Given the description of an element on the screen output the (x, y) to click on. 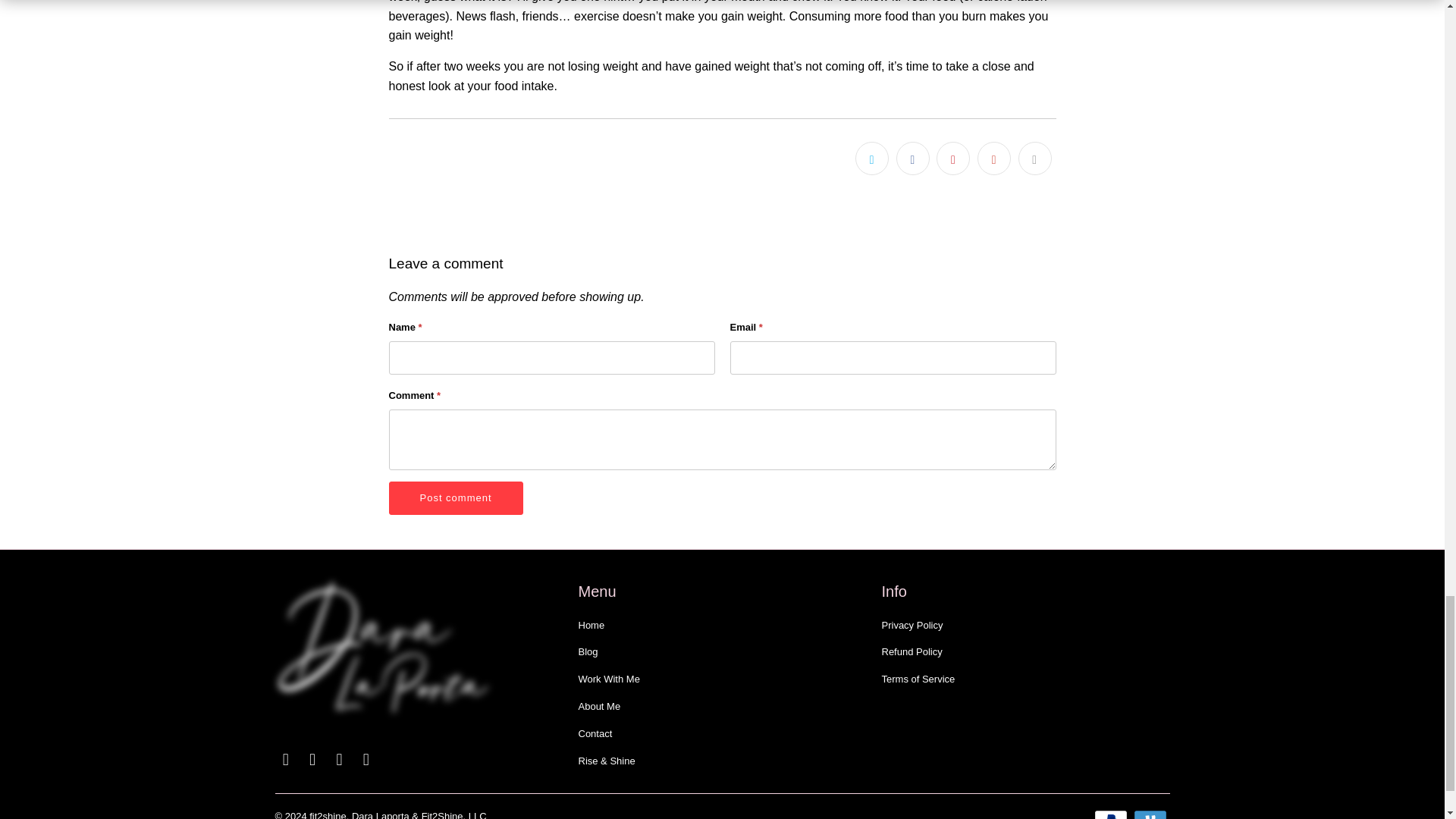
Venmo (1150, 814)
Share this on Pinterest (952, 158)
PayPal (1112, 814)
Post comment (455, 498)
Share this on Twitter (872, 158)
Share this on Facebook (913, 158)
